Given the description of an element on the screen output the (x, y) to click on. 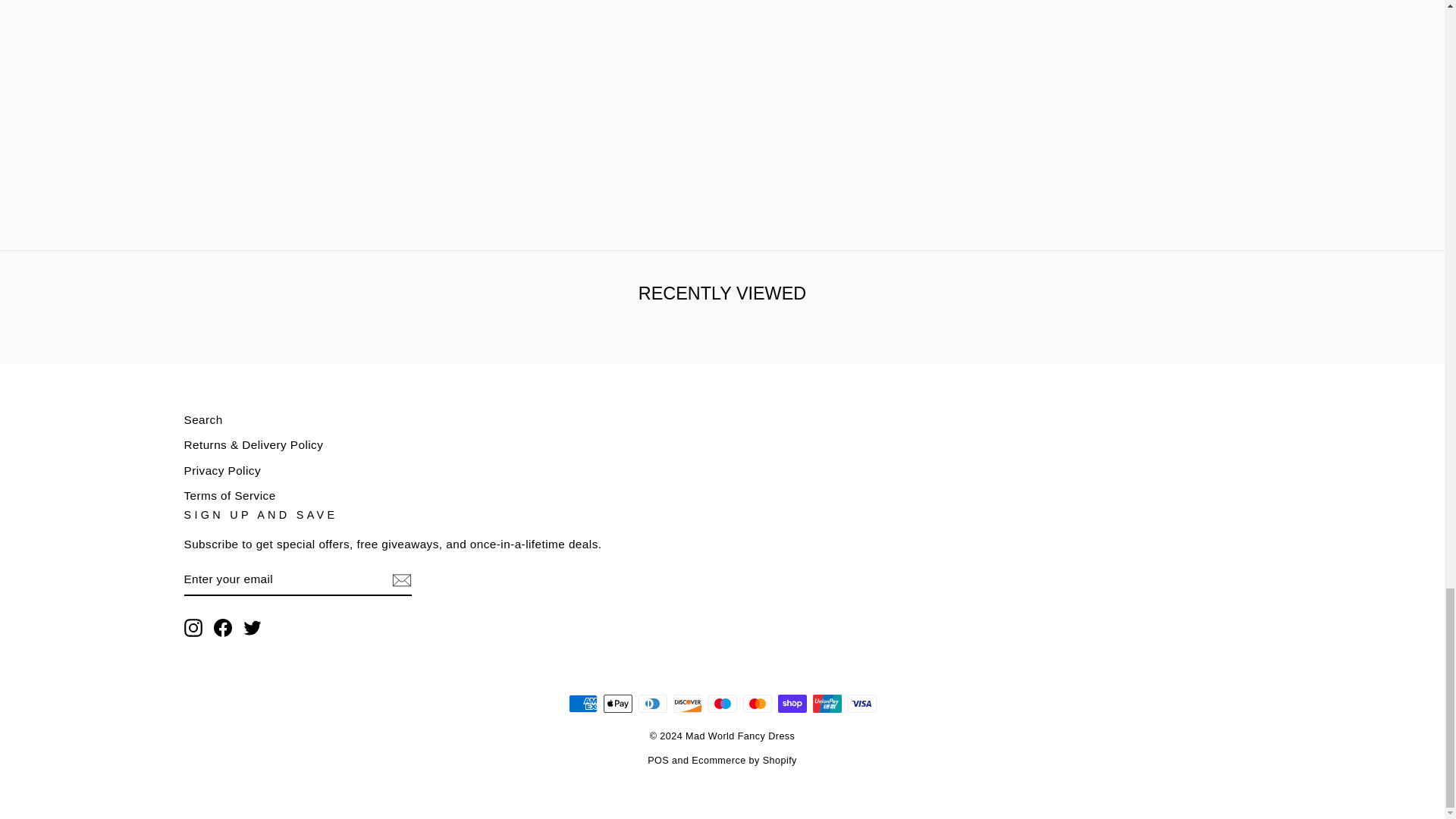
Maestro (721, 703)
Mad World Fancy Dress on Instagram (192, 628)
Apple Pay (617, 703)
Mad World Fancy Dress on Facebook (222, 628)
Diners Club (652, 703)
Mastercard (756, 703)
Discover (686, 703)
American Express (582, 703)
Mad World Fancy Dress on Twitter (251, 628)
